Given the description of an element on the screen output the (x, y) to click on. 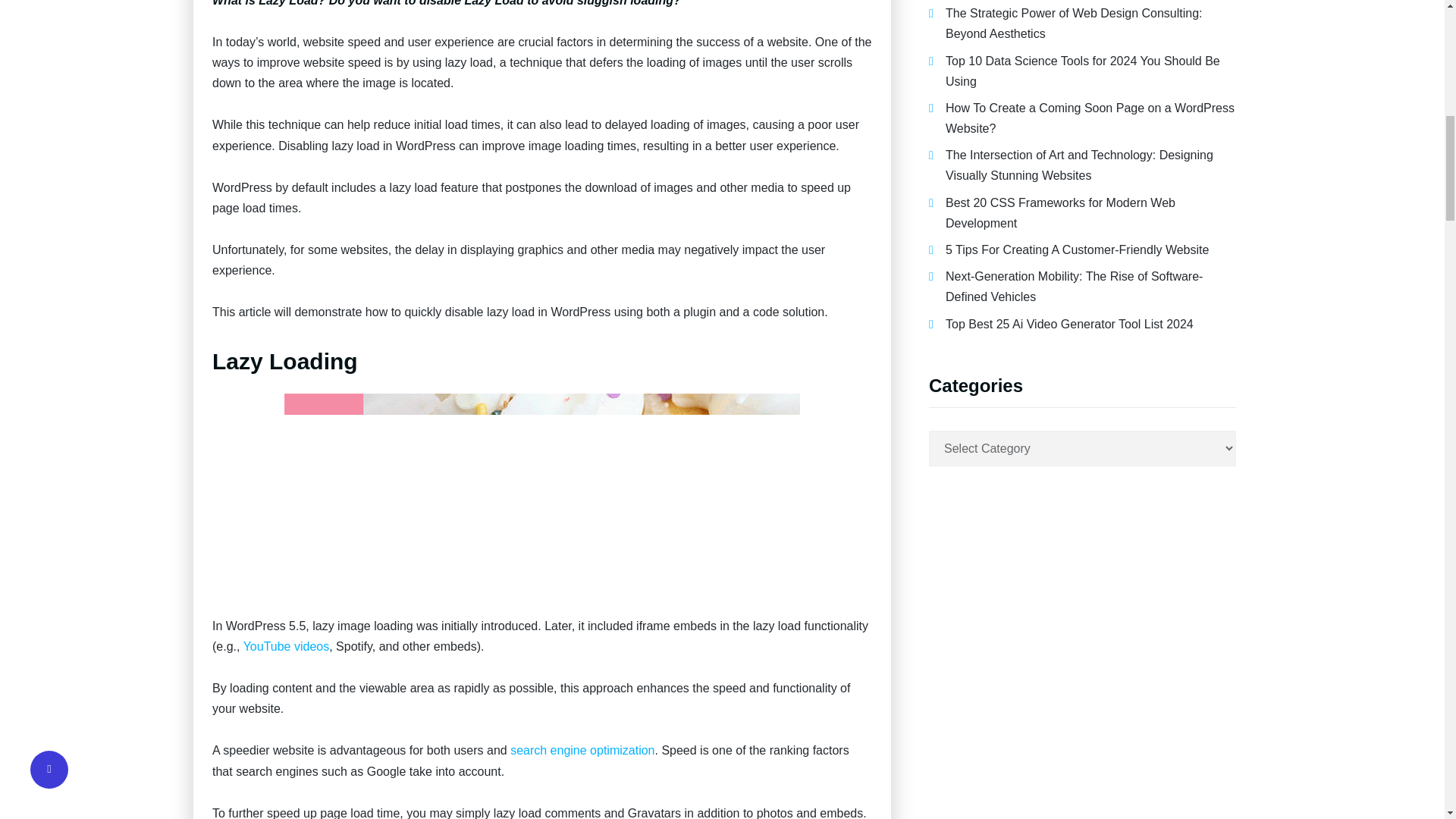
YouTube videos (286, 645)
5 Tips For Creating A Customer-Friendly Website (1076, 249)
Top 10 Data Science Tools for 2024 You Should Be Using (1082, 70)
How To Create a Coming Soon Page on a WordPress Website? (1089, 118)
search engine optimization (582, 749)
Best 20 CSS Frameworks for Modern Web Development (1059, 213)
